Given the description of an element on the screen output the (x, y) to click on. 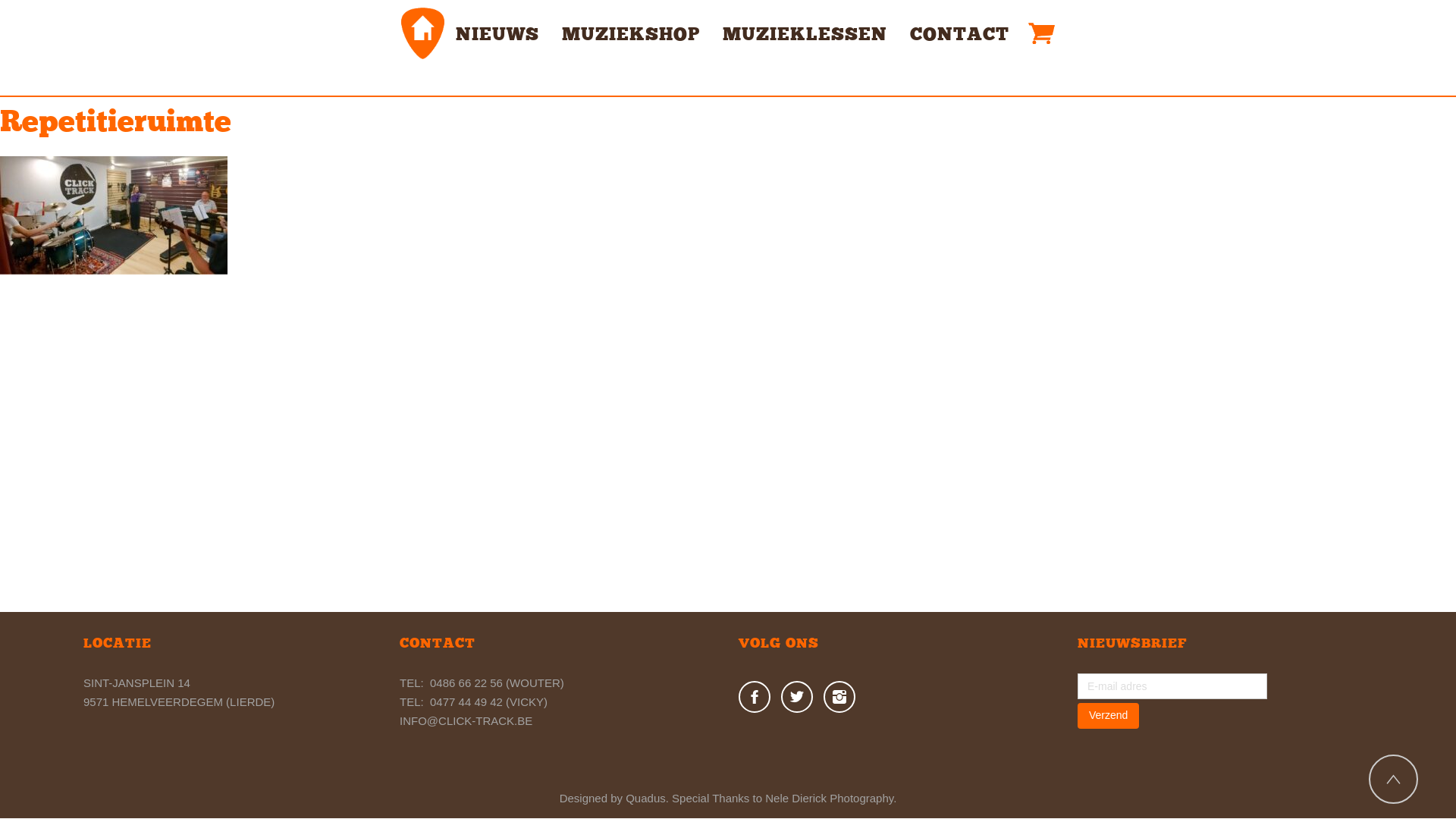
MUZIEKLESSEN Element type: text (804, 36)
MUZIEKSHOP Element type: text (630, 36)
INFO@CLICK-TRACK.BE Element type: text (465, 720)
Quadus Element type: text (645, 797)
CONTACT Element type: text (959, 36)
Verzend Element type: text (1108, 715)
. Element type: text (666, 797)
NIEUWS Element type: text (497, 36)
